Given the description of an element on the screen output the (x, y) to click on. 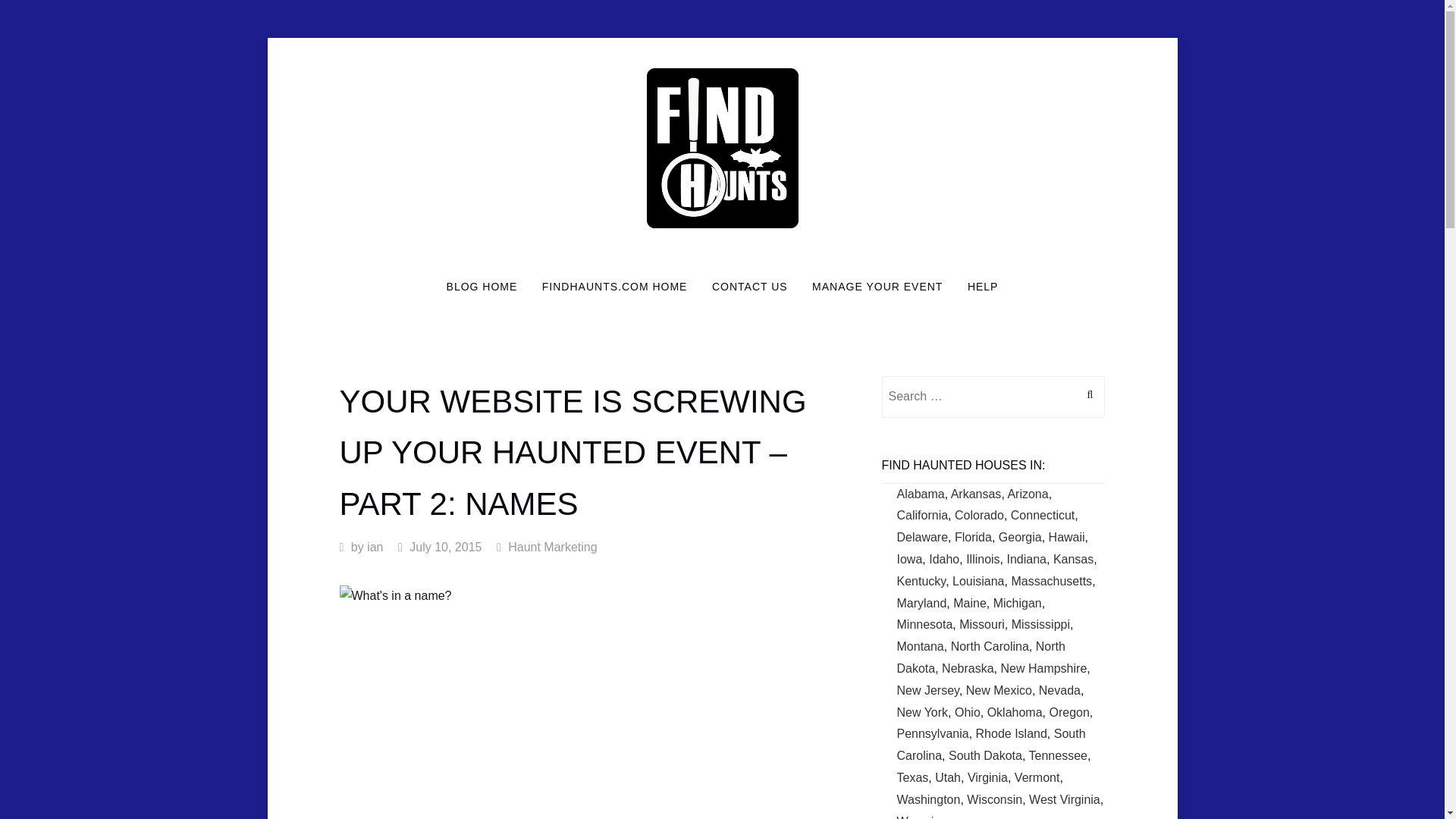
Georgia (1020, 536)
Colorado (979, 514)
Hawaii (1066, 536)
Connecticut (1042, 514)
MANAGE YOUR EVENT (877, 286)
Delaware (921, 536)
Alabama (919, 493)
CONTACT US (749, 286)
Florida (973, 536)
Haunt Marketing (552, 546)
